Given the description of an element on the screen output the (x, y) to click on. 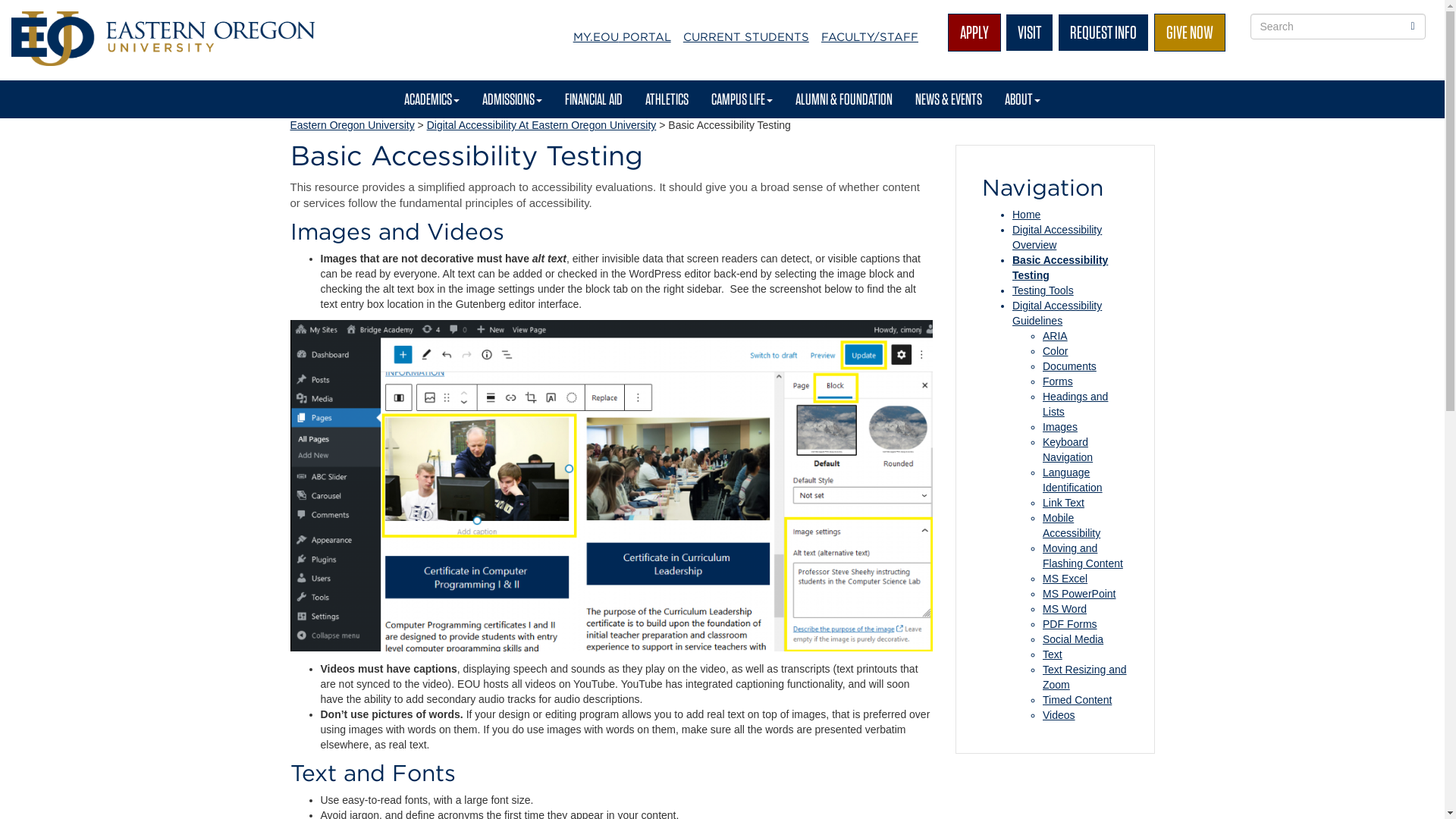
Academic Programs (431, 98)
Current EOU Students (745, 36)
EOU Faculty and Staff (869, 36)
ATHLETICS (666, 98)
Apply for Admission at EOU (974, 32)
Request more information from EOU (1103, 32)
Eastern Oregon University Logo Link to Homepage (162, 38)
REQUEST INFO (1103, 32)
Admissions at EOU (511, 98)
ADMISSIONS (511, 98)
GIVE NOW (1189, 32)
VISIT (1029, 32)
CURRENT STUDENTS (745, 36)
Give to EOU (1189, 32)
APPLY (974, 32)
